Given the description of an element on the screen output the (x, y) to click on. 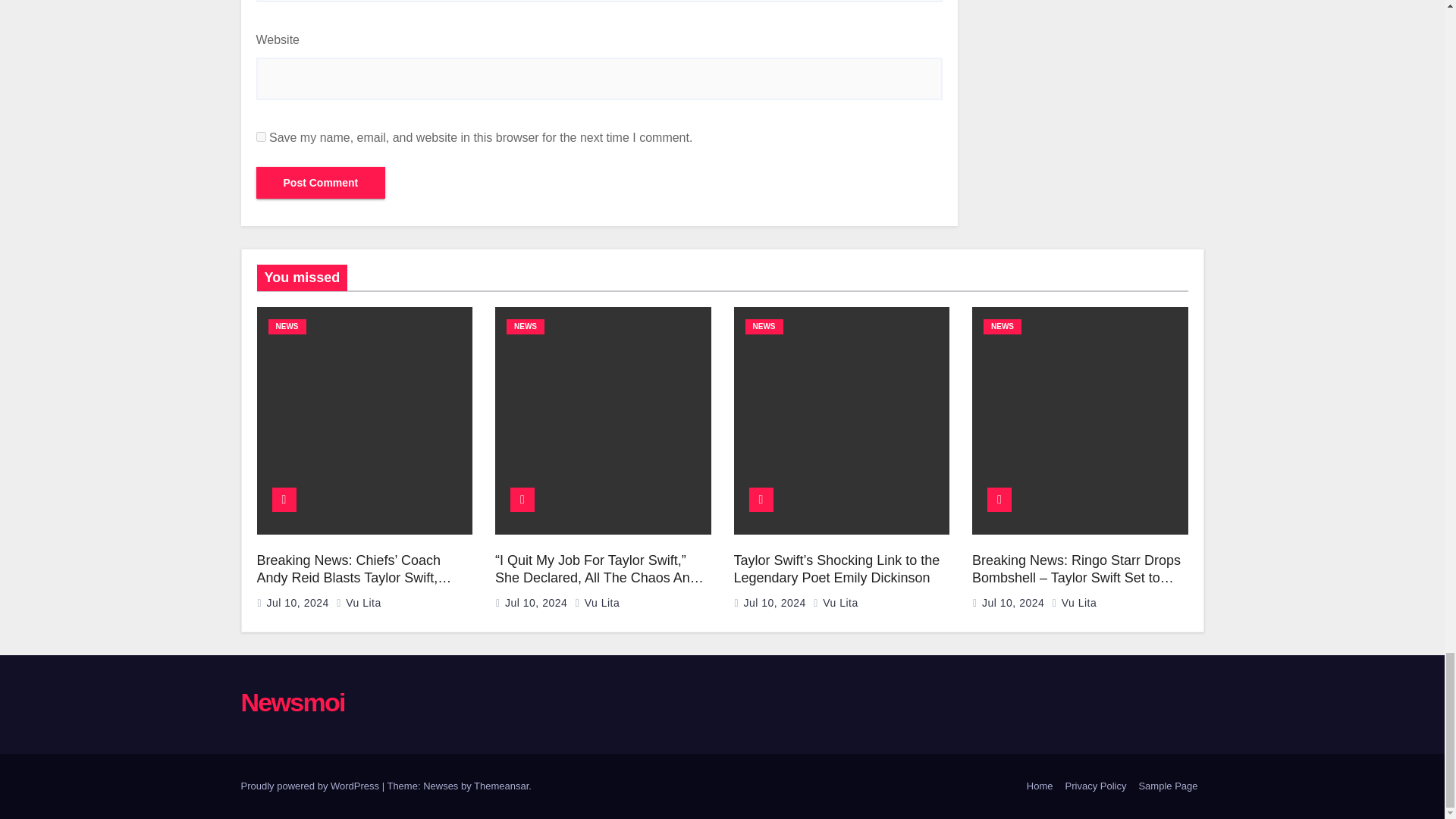
Home (1039, 786)
Post Comment (320, 183)
yes (261, 136)
